Given the description of an element on the screen output the (x, y) to click on. 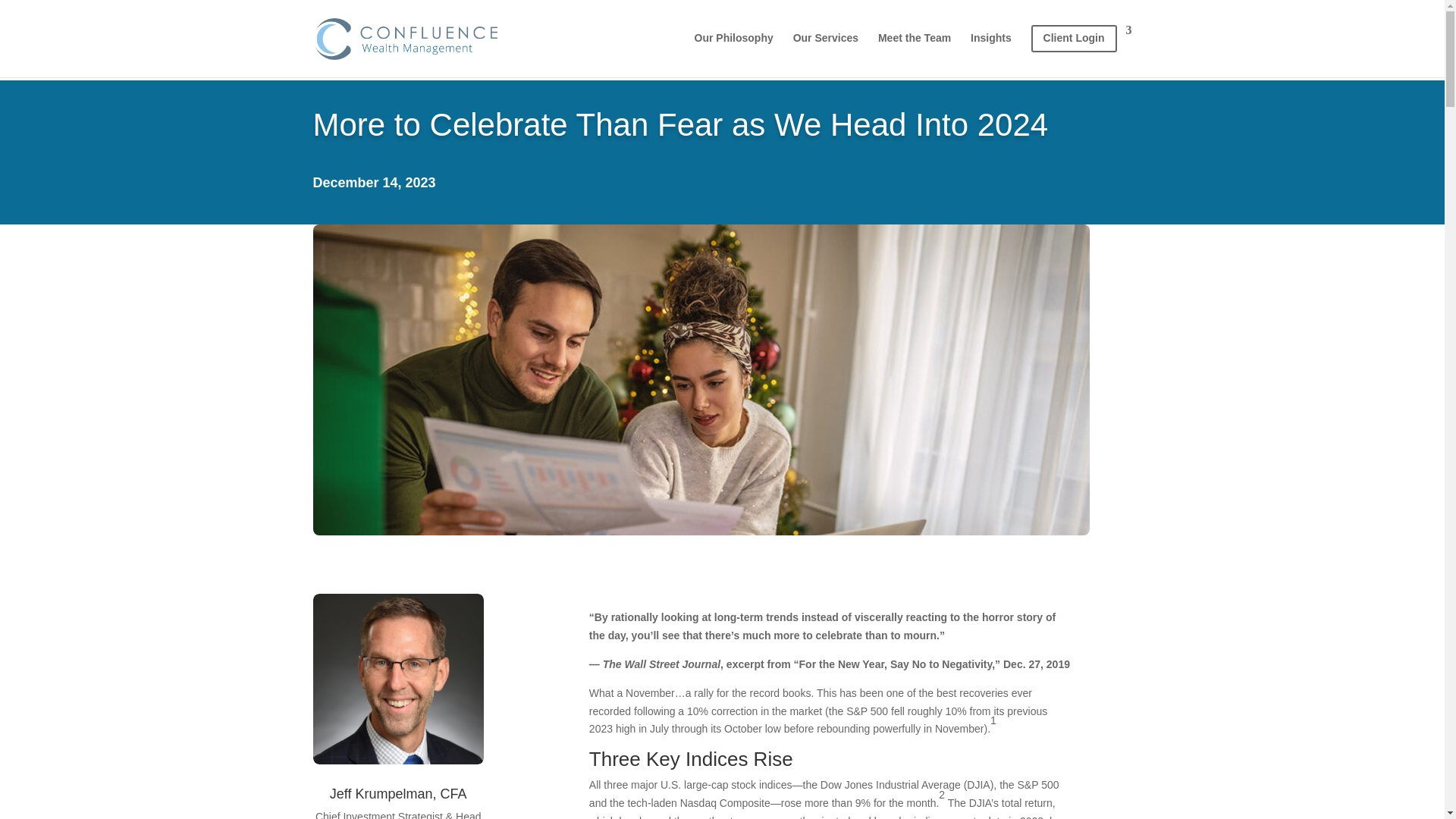
Our Philosophy (733, 49)
Insights (991, 49)
Client Login (1081, 50)
Meet the Team (913, 49)
Our Services (826, 49)
